Given the description of an element on the screen output the (x, y) to click on. 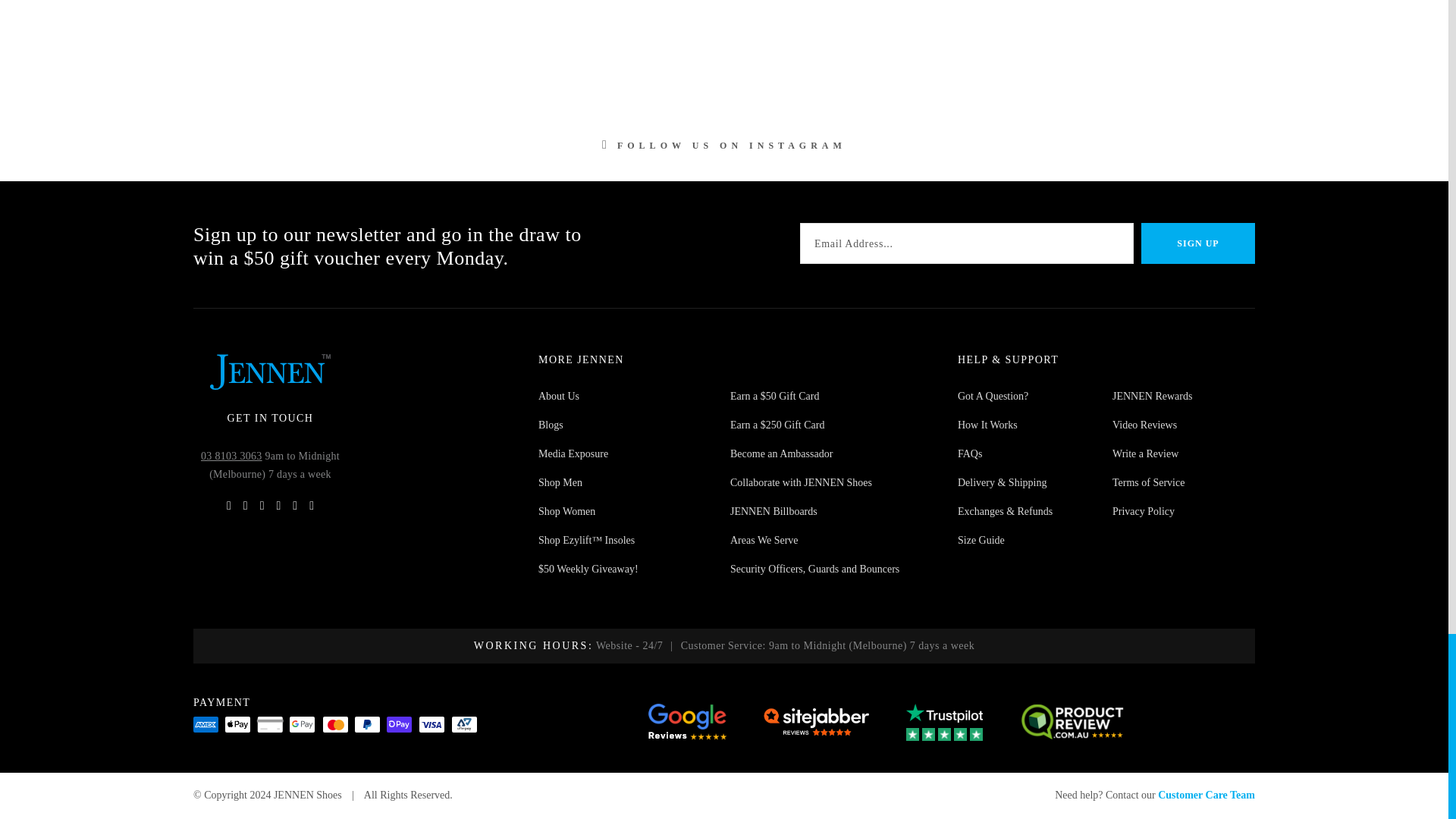
Sign up (1198, 242)
